Given the description of an element on the screen output the (x, y) to click on. 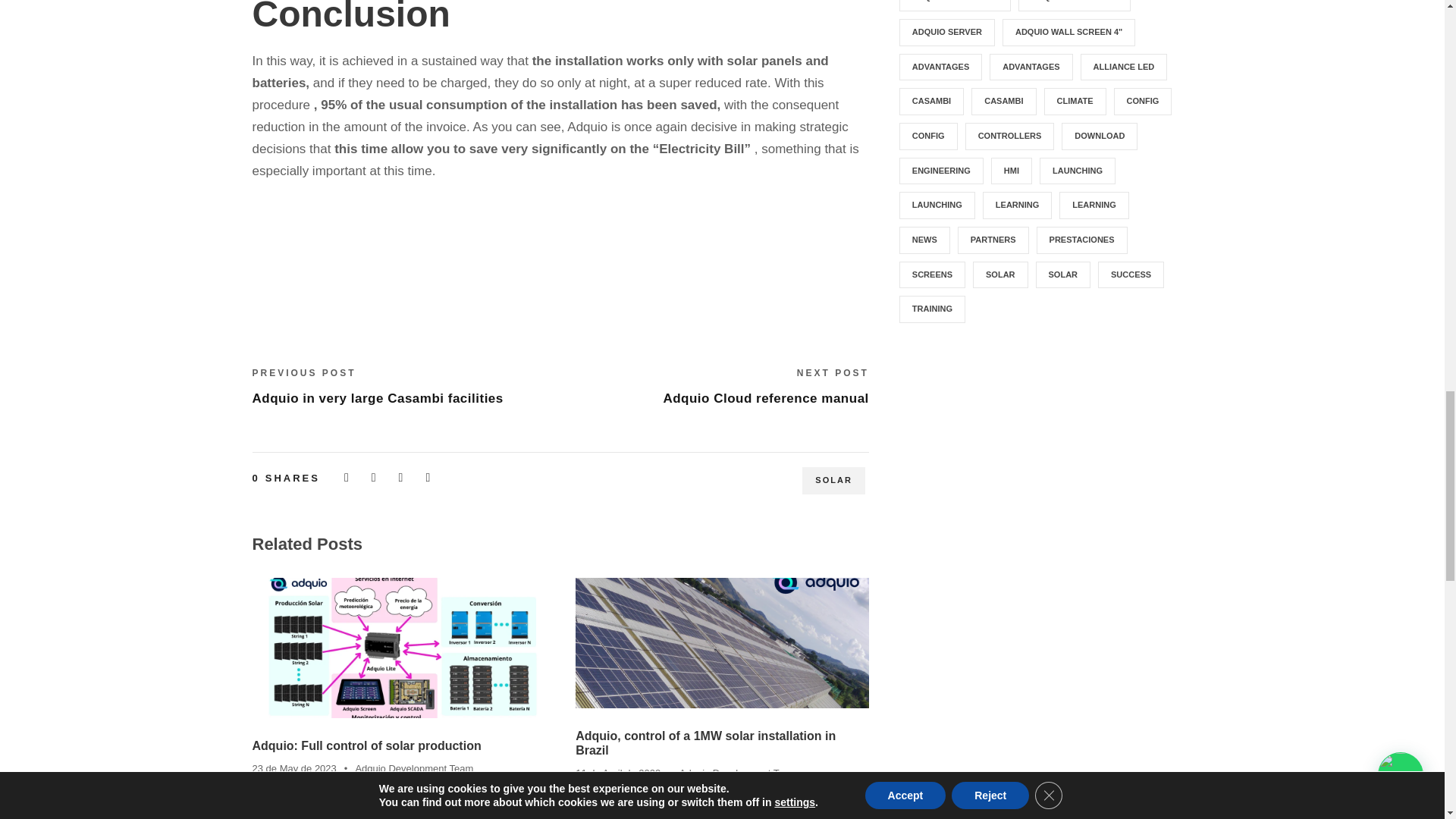
Posts by Adquio Development Team (414, 767)
Adquio-solar (397, 648)
Posts by Adquio Development Team (738, 772)
